Given the description of an element on the screen output the (x, y) to click on. 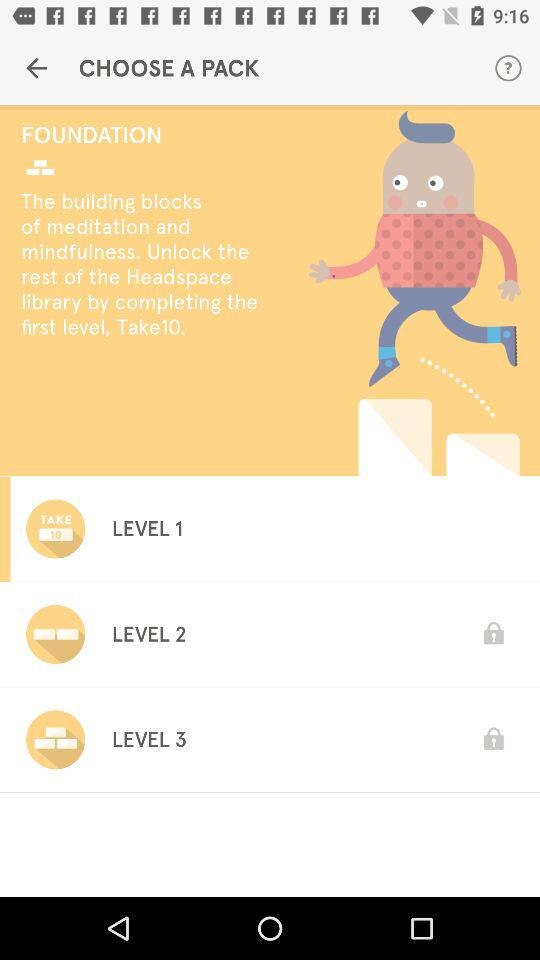
turn off the item to the left of choose a pack (36, 68)
